Given the description of an element on the screen output the (x, y) to click on. 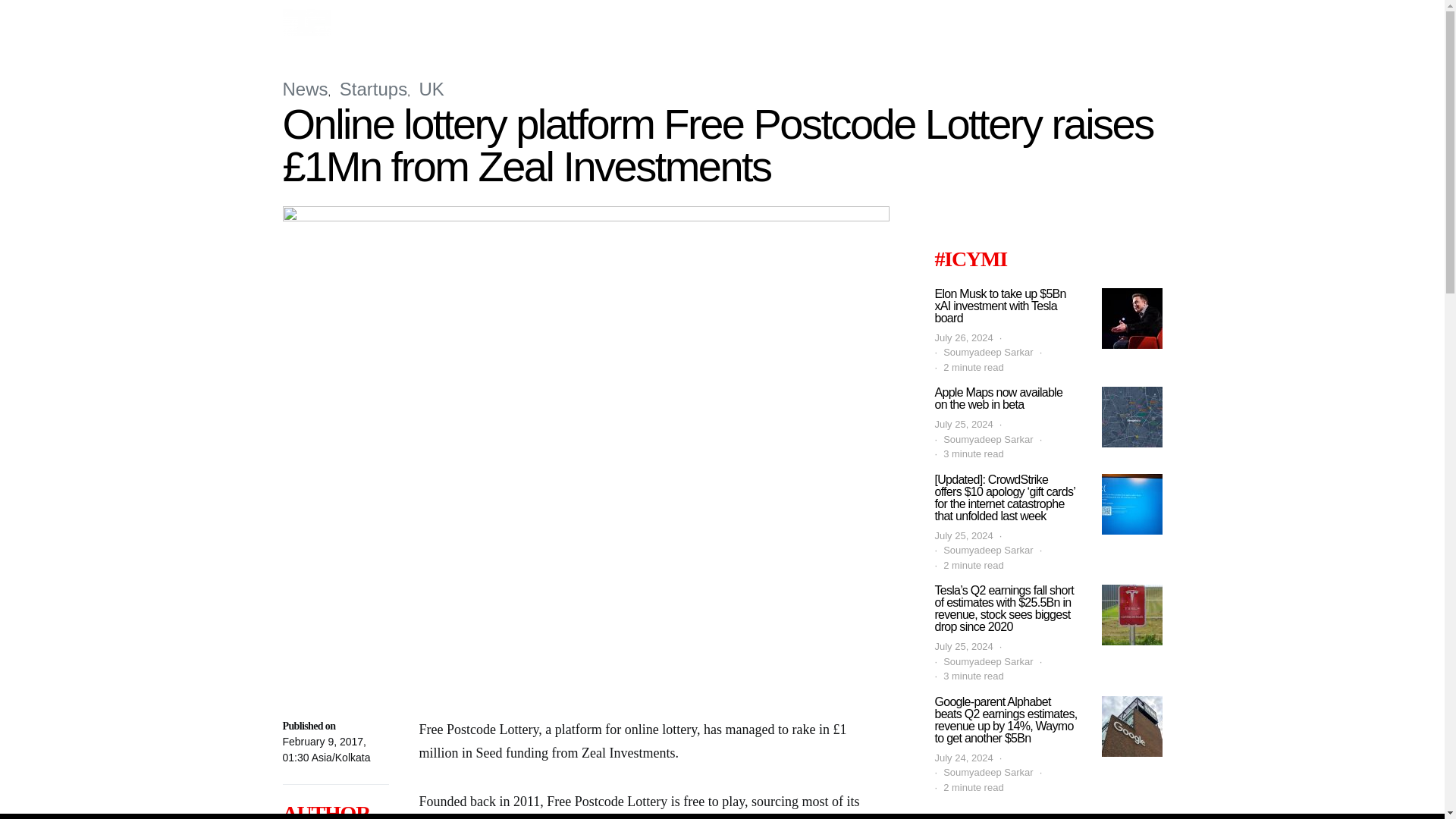
News (304, 88)
SPACE (1071, 22)
UK (431, 88)
VENTURE CAPITAL (971, 22)
CULTURE (510, 22)
Startups (373, 88)
INTERNET (774, 22)
View all posts by Soumyadeep Sarkar (988, 661)
View all posts by Soumyadeep Sarkar (988, 439)
STARTUPS (857, 22)
ADVERTISE (422, 67)
GADGETRY (683, 22)
BUSINESS (431, 22)
View all posts by Soumyadeep Sarkar (988, 549)
View all posts by Soumyadeep Sarkar (988, 352)
